Given the description of an element on the screen output the (x, y) to click on. 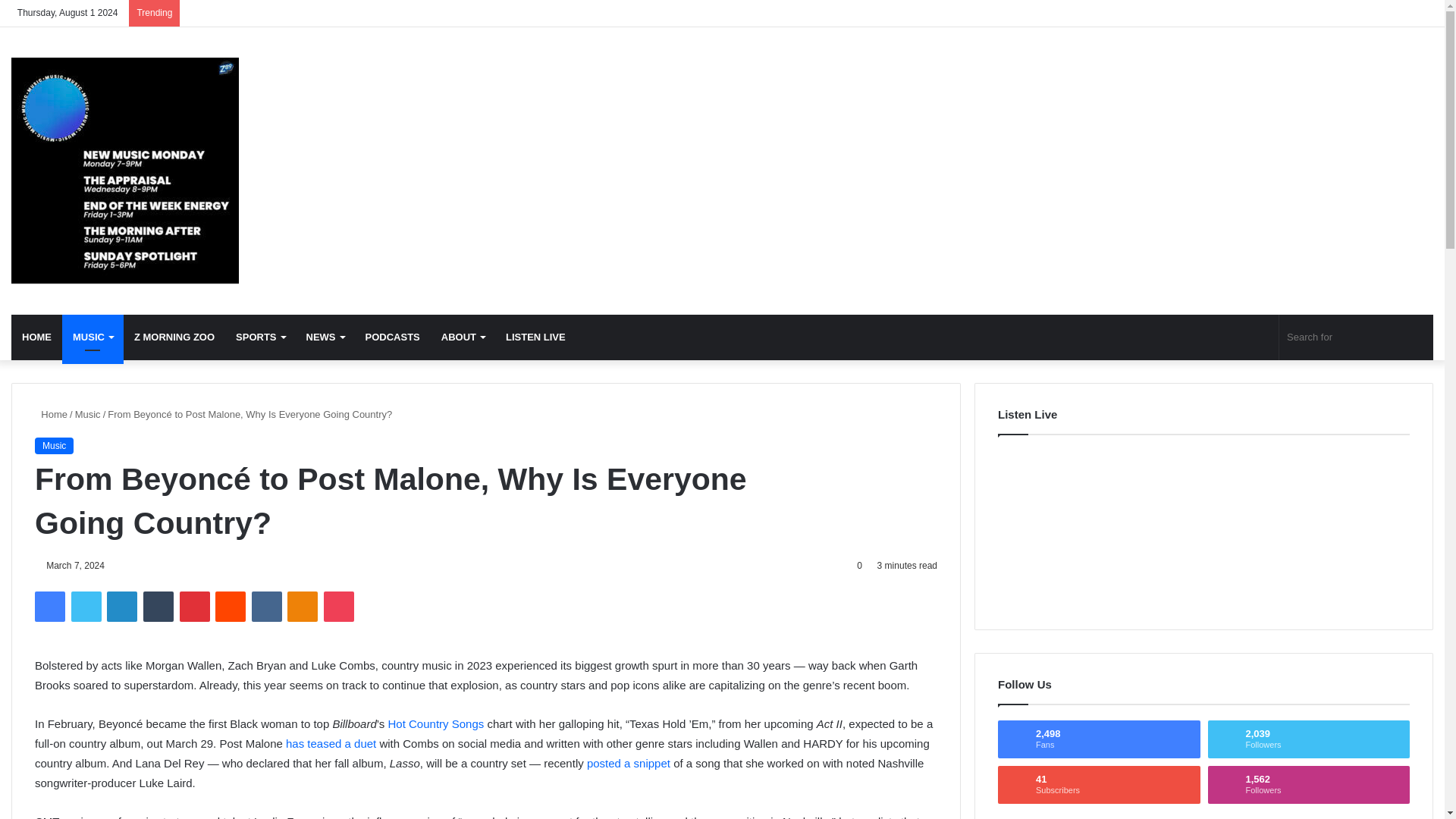
NEWS (325, 337)
SPORTS (260, 337)
Search for (1355, 337)
Pocket (338, 606)
Z MORNING ZOO (174, 337)
Reddit (230, 606)
LinkedIn (121, 606)
MUSIC (92, 337)
Odnoklassniki (301, 606)
Pinterest (194, 606)
HOME (36, 337)
Music (124, 170)
Tumblr (157, 606)
Twitter (86, 606)
Facebook (49, 606)
